Given the description of an element on the screen output the (x, y) to click on. 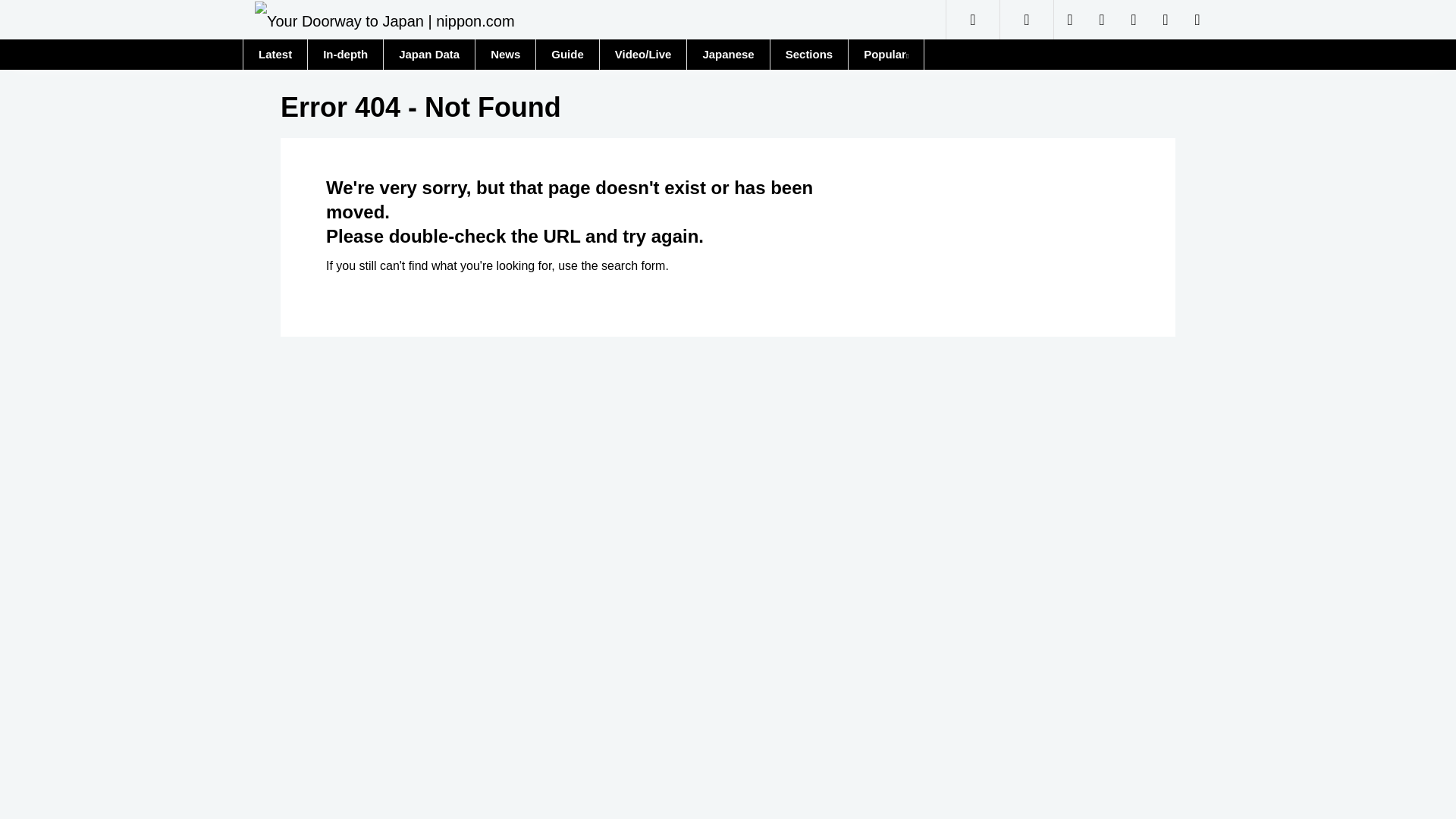
Japan Data (428, 54)
Latest (275, 54)
In-depth (344, 54)
News (504, 53)
Japanese (726, 54)
Guide (566, 54)
